Given the description of an element on the screen output the (x, y) to click on. 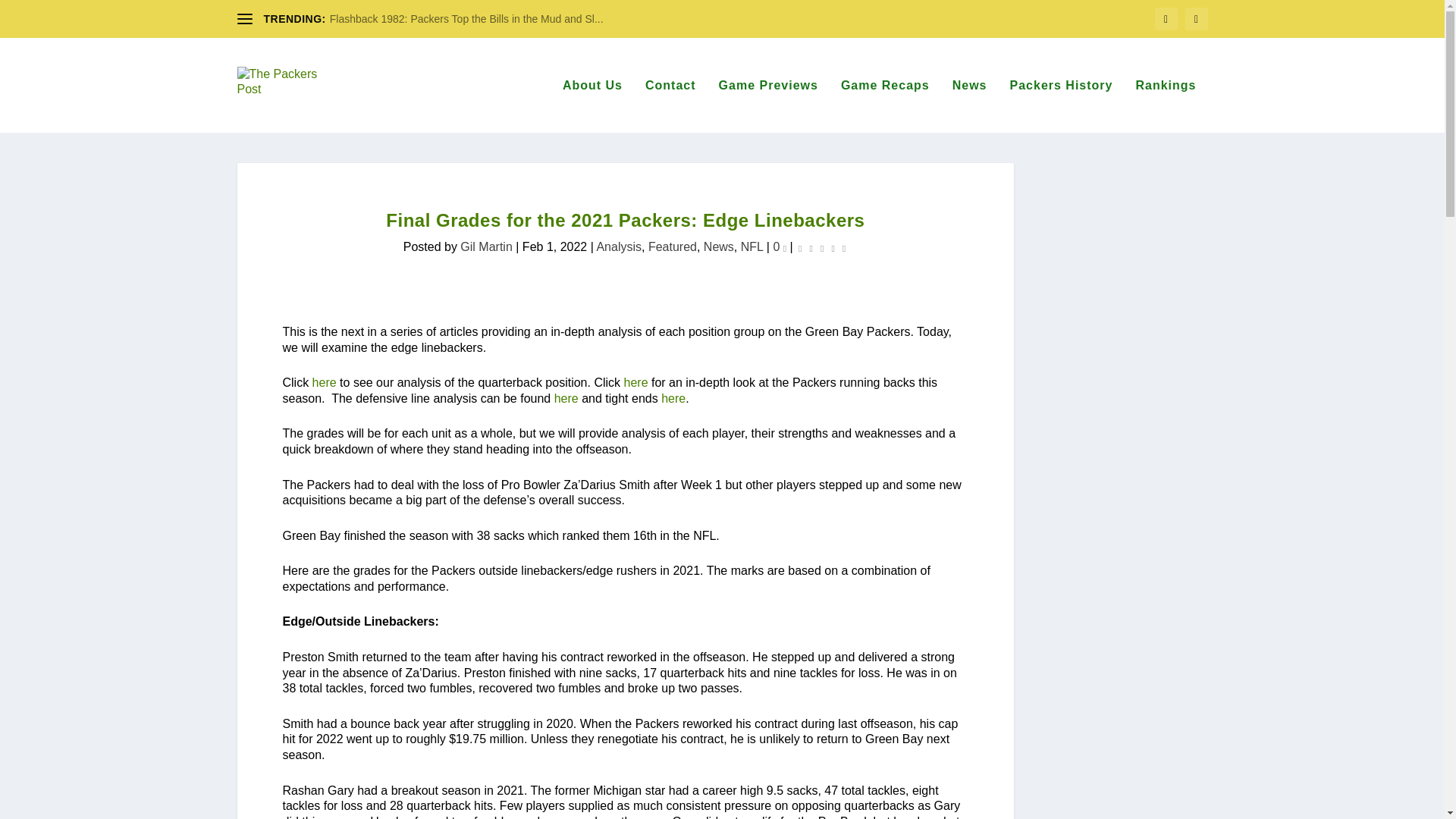
Rating: 5.00 (821, 247)
About Us (592, 105)
here (673, 398)
Contact (670, 105)
Game Recaps (885, 105)
NFL (751, 246)
Flashback 1982: Packers Top the Bills in the Mud and Sl... (467, 19)
Packers History (1061, 105)
Analysis (618, 246)
Featured (672, 246)
here (324, 382)
Rankings (1165, 105)
Posts by Gil Martin (486, 246)
Game Previews (768, 105)
News (718, 246)
